Given the description of an element on the screen output the (x, y) to click on. 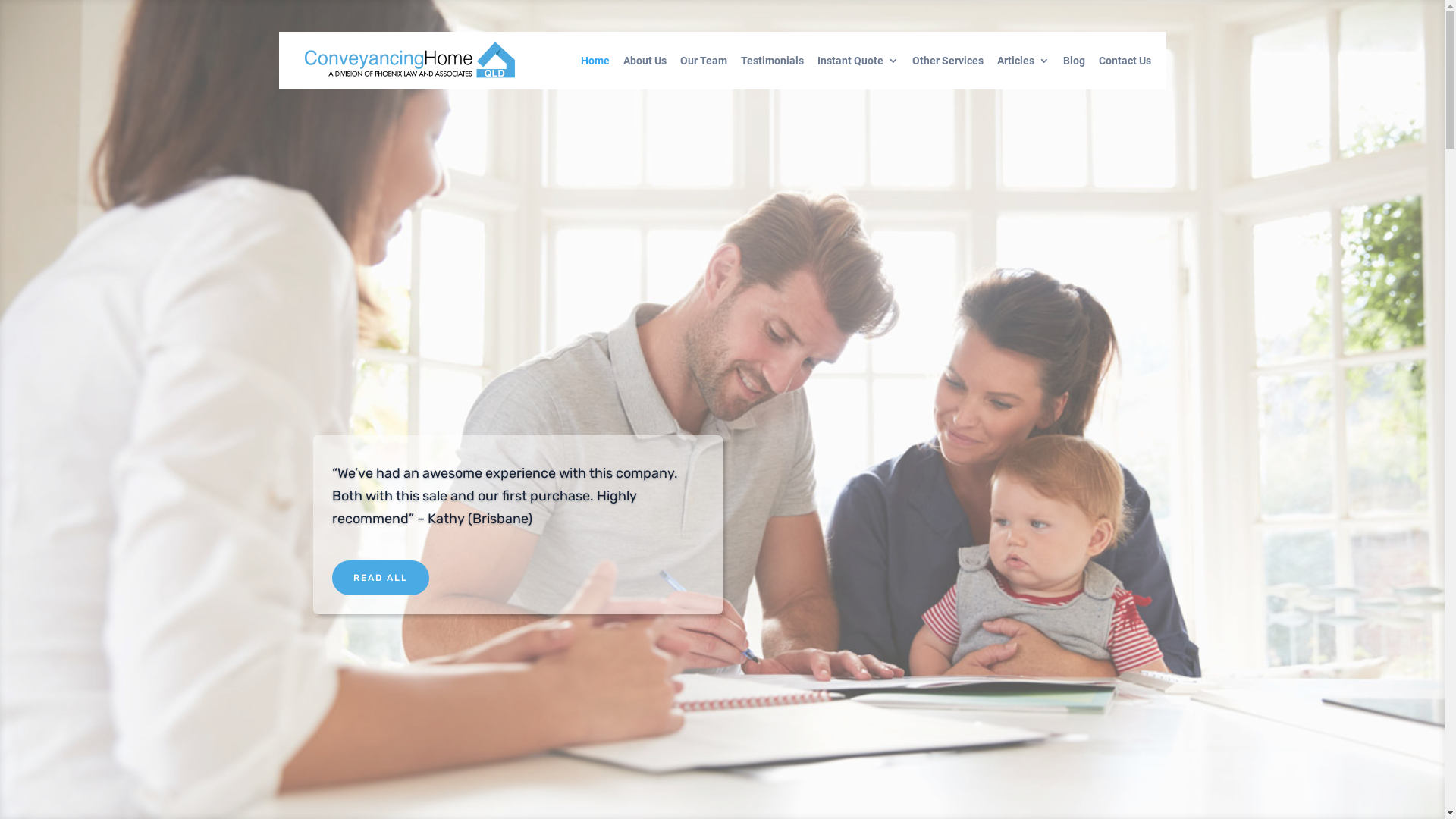
About Us Element type: text (644, 72)
Articles Element type: text (1022, 72)
Testimonials Element type: text (771, 72)
READ ALL Element type: text (380, 577)
Other Services Element type: text (946, 72)
Contact Us Element type: text (1124, 72)
Our Team Element type: text (702, 72)
Instant Quote Element type: text (857, 72)
Home Element type: text (594, 72)
Blog Element type: text (1074, 72)
